Given the description of an element on the screen output the (x, y) to click on. 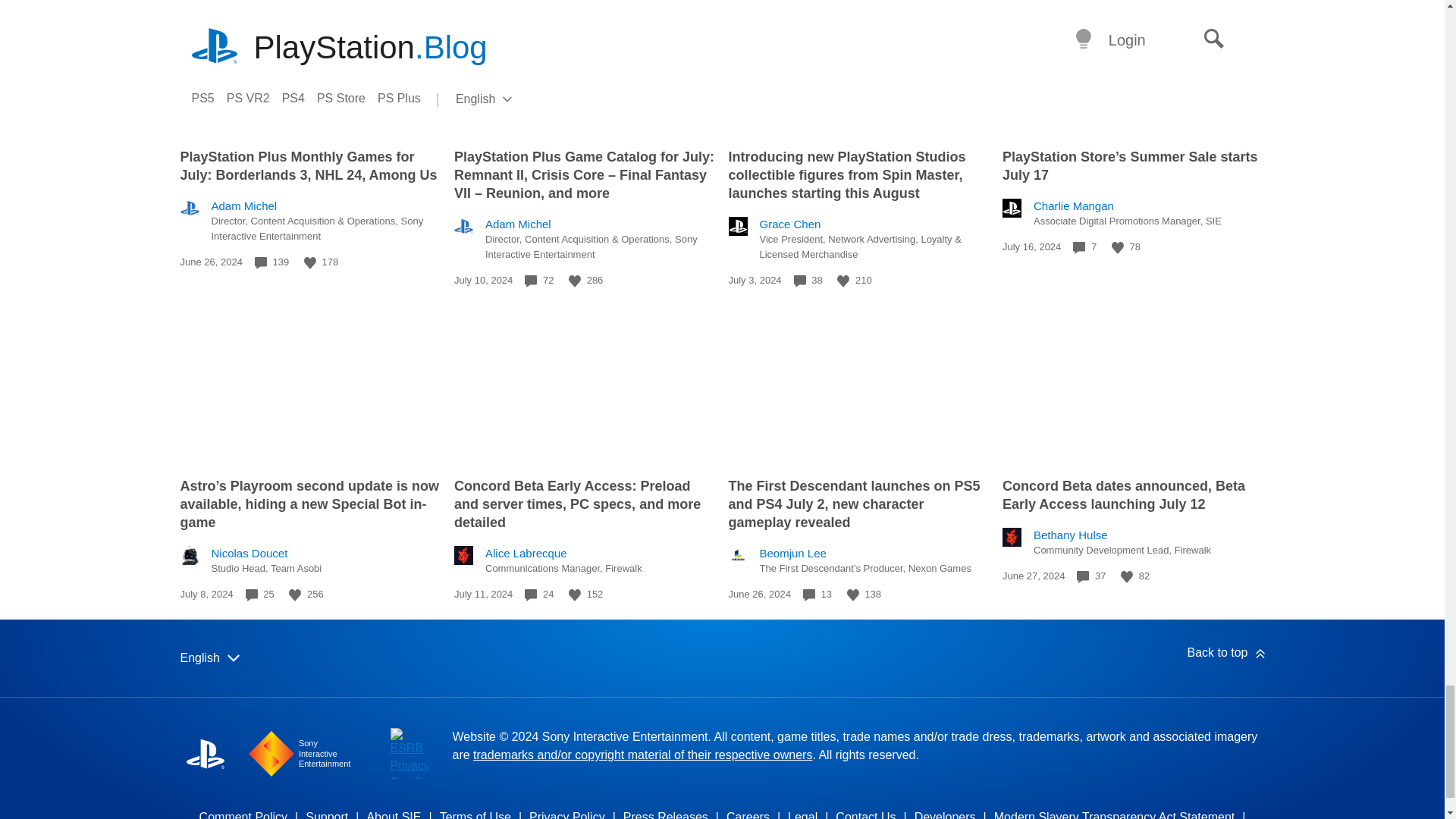
Like this (574, 281)
Like this (309, 263)
Like this (1118, 247)
Like this (842, 281)
